Given the description of an element on the screen output the (x, y) to click on. 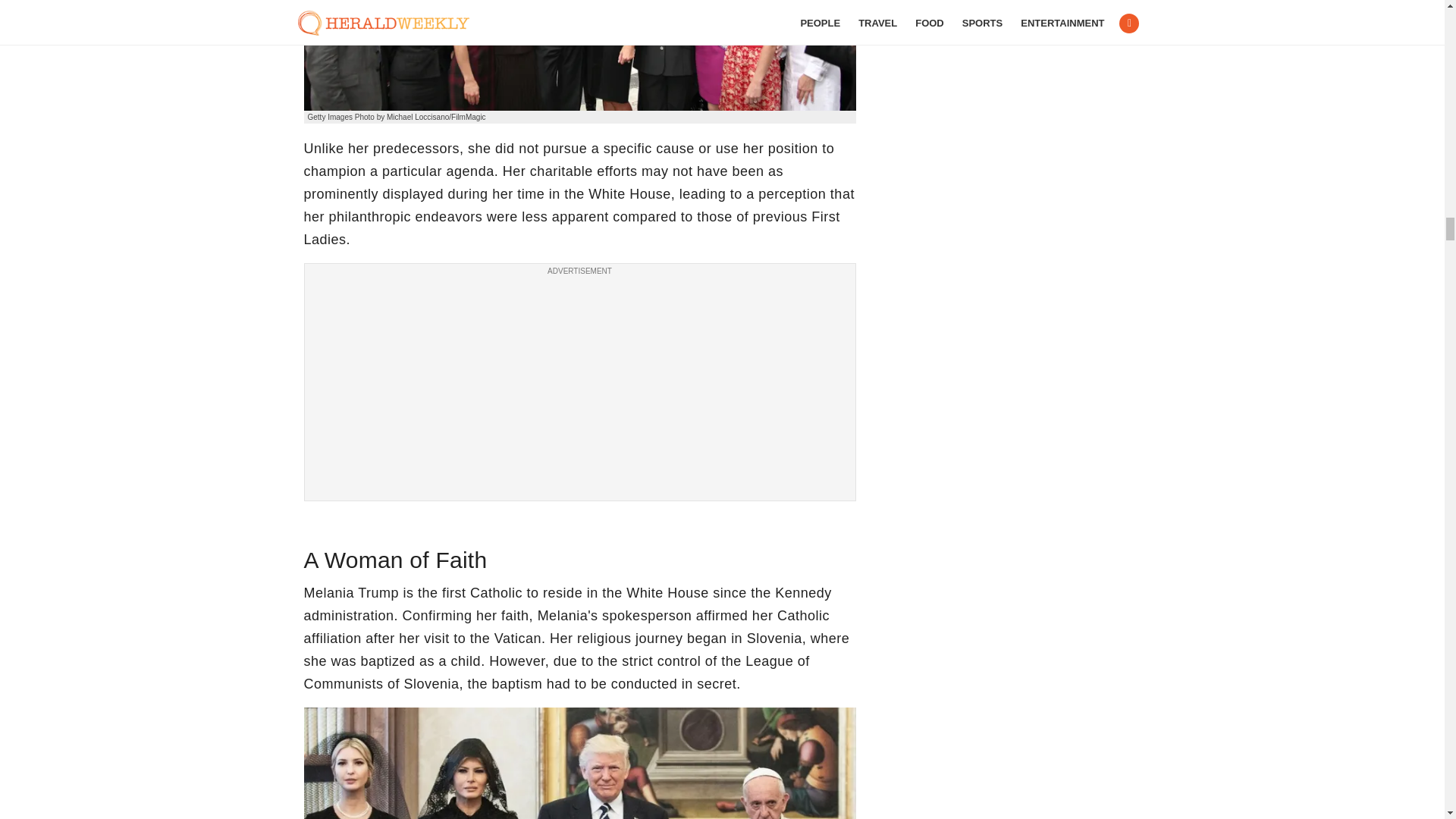
Keeping It Neutral (579, 55)
